Given the description of an element on the screen output the (x, y) to click on. 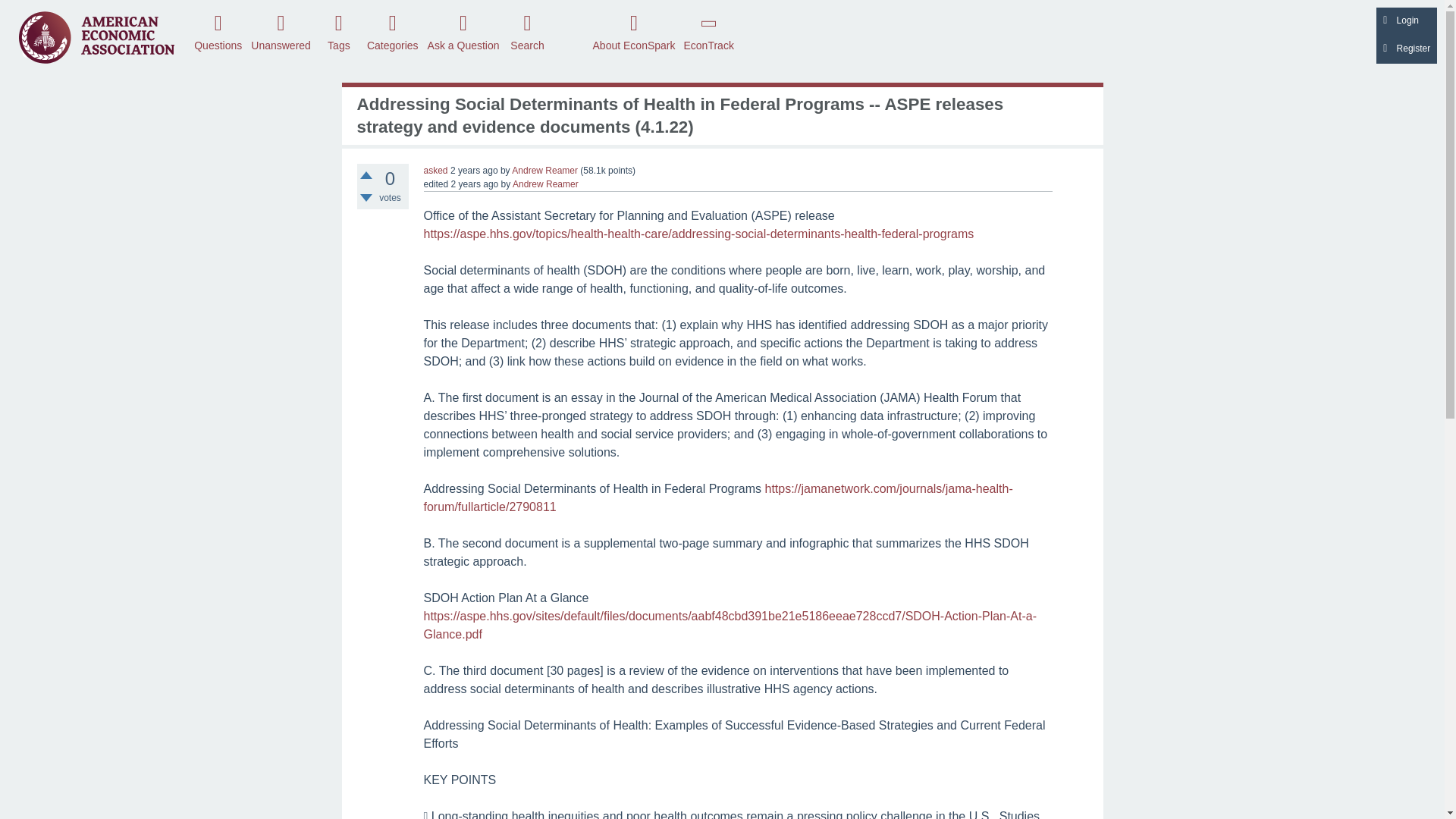
Andrew Reamer (545, 170)
Click to vote down (365, 197)
Tags (338, 31)
Search (527, 31)
Unanswered (280, 31)
Categories (392, 31)
Questions (218, 31)
Login (1406, 21)
Register (1406, 49)
Click to vote up (365, 175)
